Given the description of an element on the screen output the (x, y) to click on. 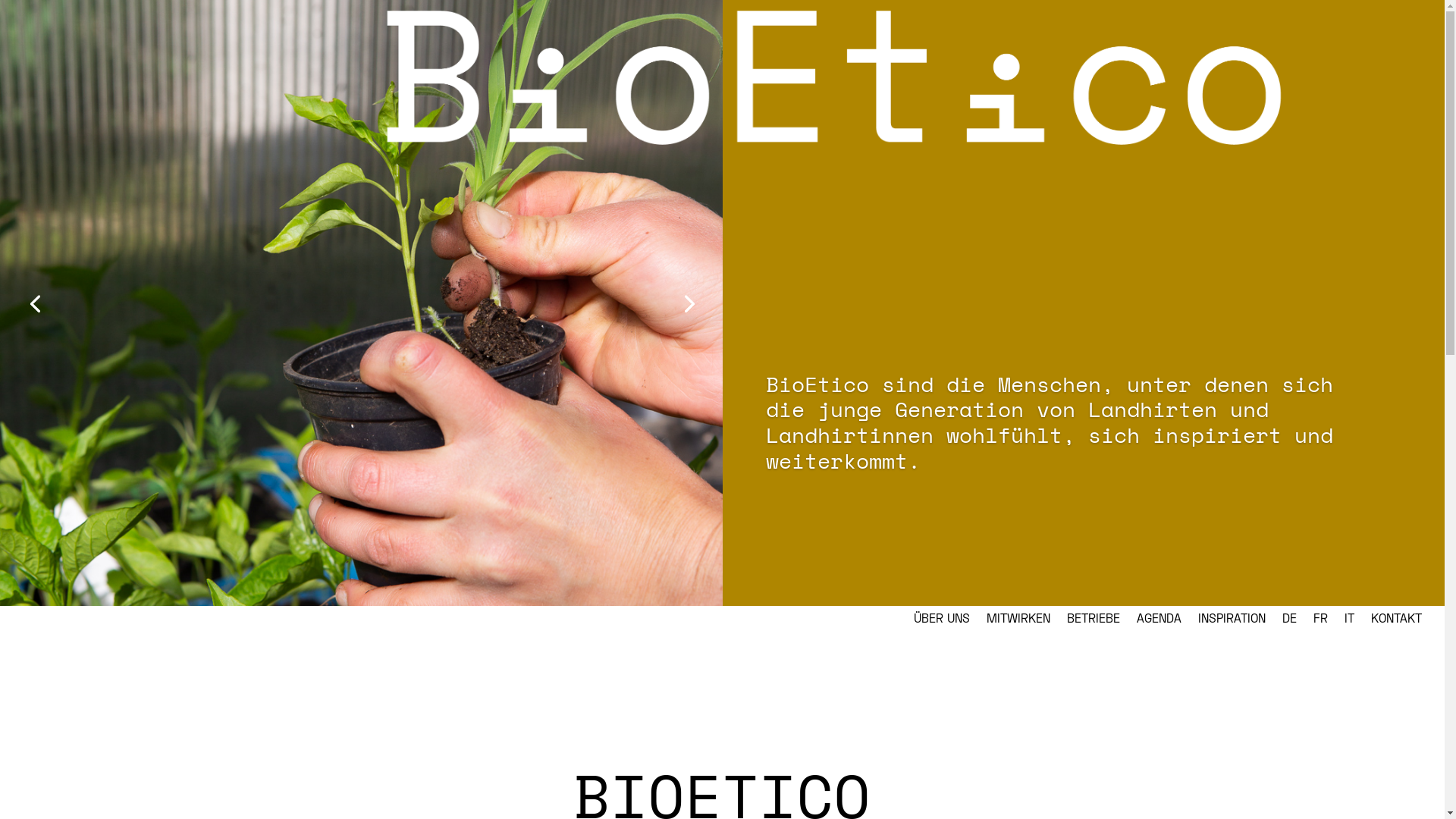
KONTAKT Element type: text (1396, 620)
BETRIEBE Element type: text (1093, 620)
IT Element type: text (1349, 620)
DE Element type: text (1289, 620)
MITWIRKEN Element type: text (1018, 620)
AGENDA Element type: text (1158, 620)
INSPIRATION Element type: text (1231, 620)
FR Element type: text (1320, 620)
